Given the description of an element on the screen output the (x, y) to click on. 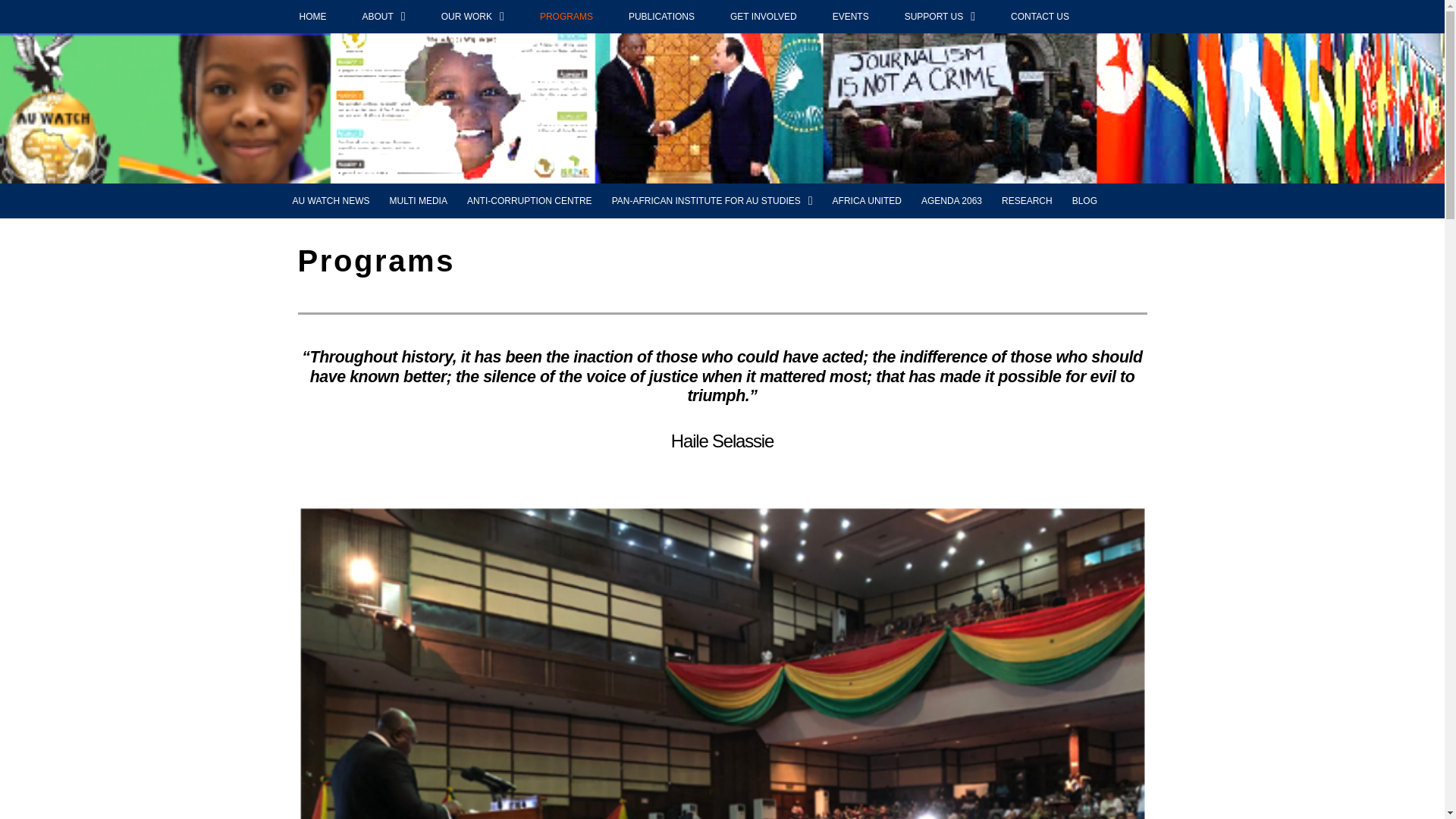
PROGRAMS (566, 16)
GET INVOLVED (763, 16)
EVENTS (850, 16)
SUPPORT US (939, 16)
PUBLICATIONS (661, 16)
ABOUT (383, 16)
OUR WORK (472, 16)
HOME (311, 16)
